Given the description of an element on the screen output the (x, y) to click on. 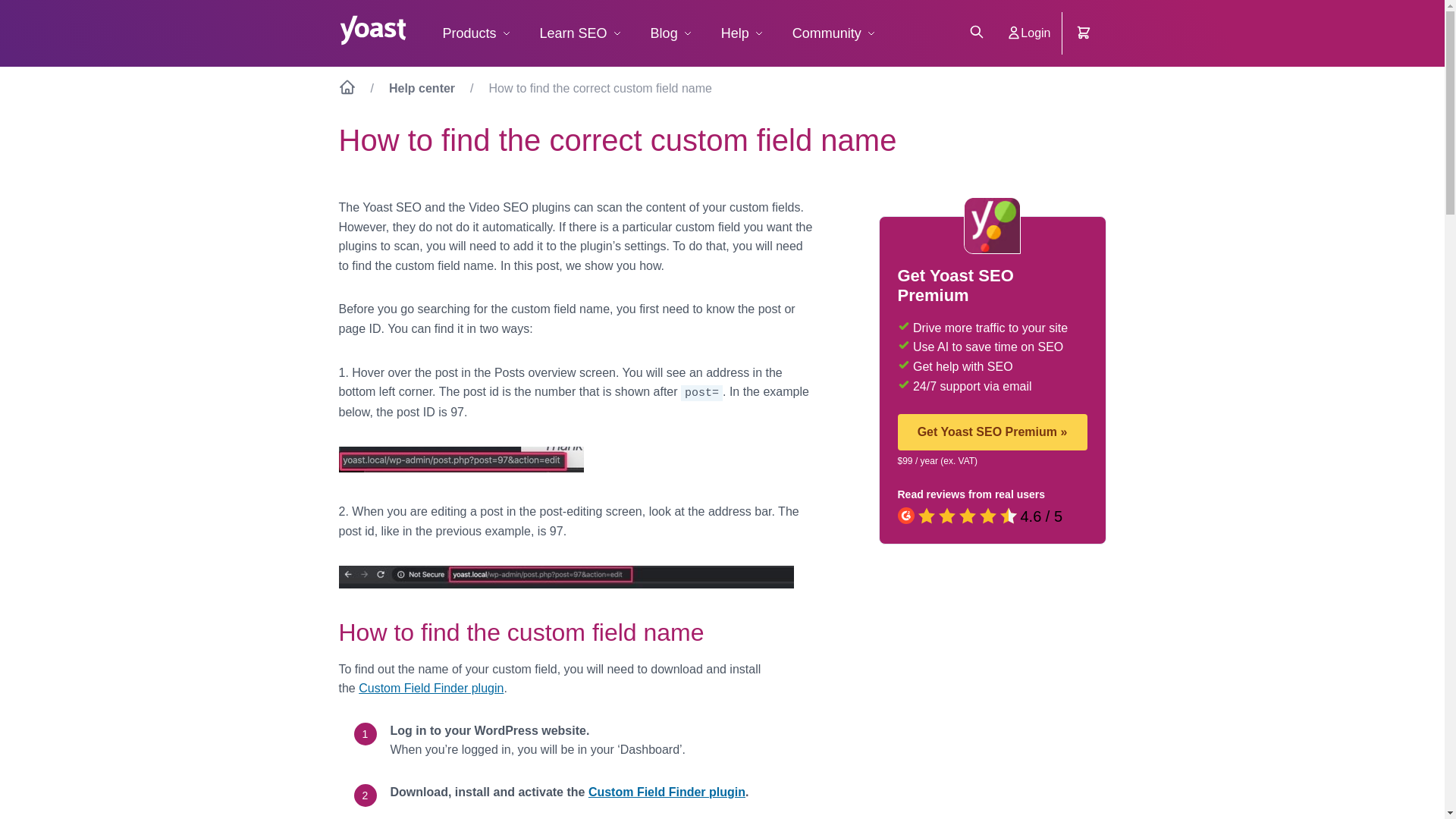
Learn SEO (578, 33)
Help (740, 33)
Community (831, 33)
Products (475, 33)
Login (1028, 33)
Blog (668, 33)
